Given the description of an element on the screen output the (x, y) to click on. 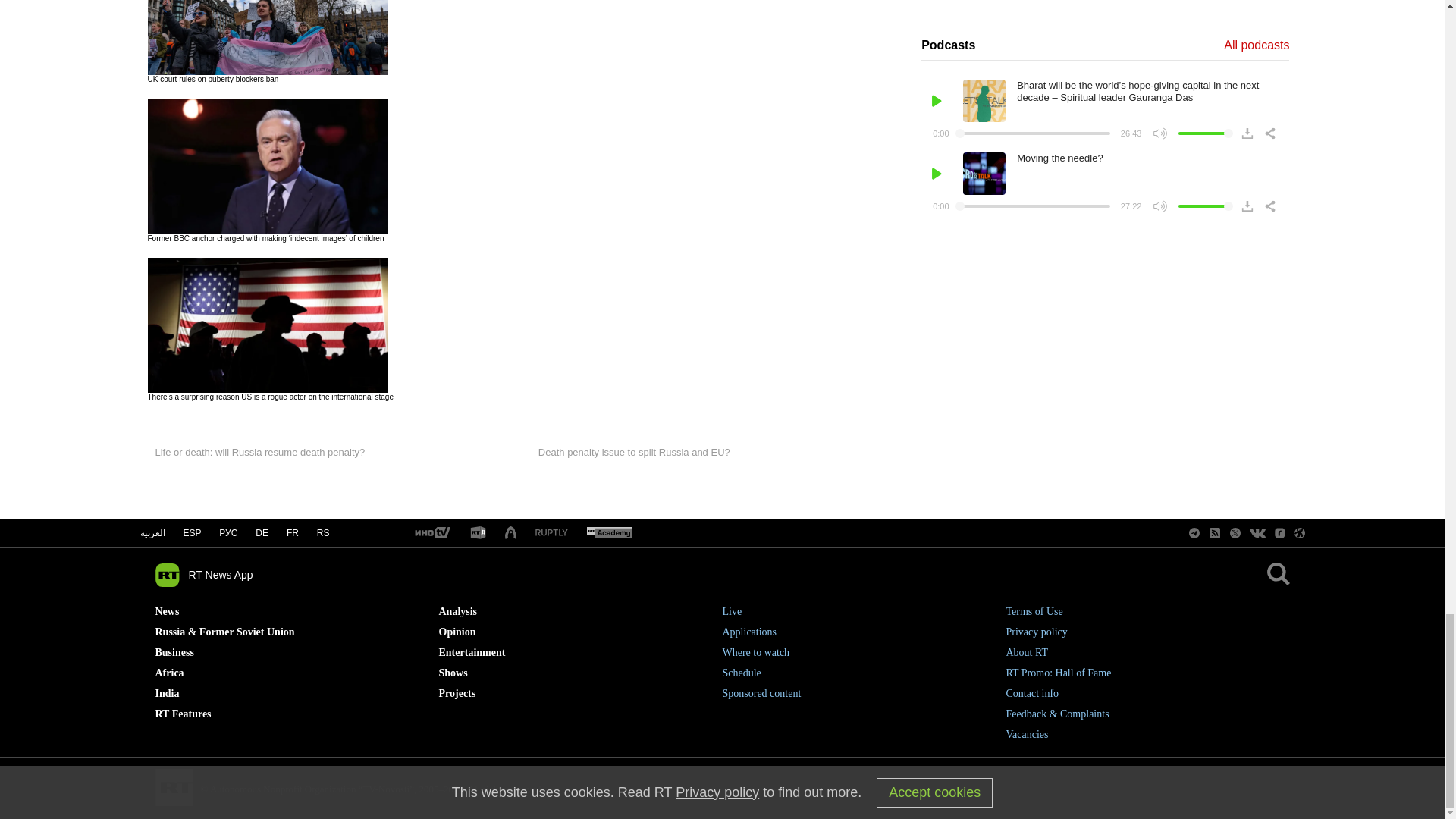
RT  (608, 533)
RT  (478, 533)
RT  (431, 533)
RT  (551, 533)
